Given the description of an element on the screen output the (x, y) to click on. 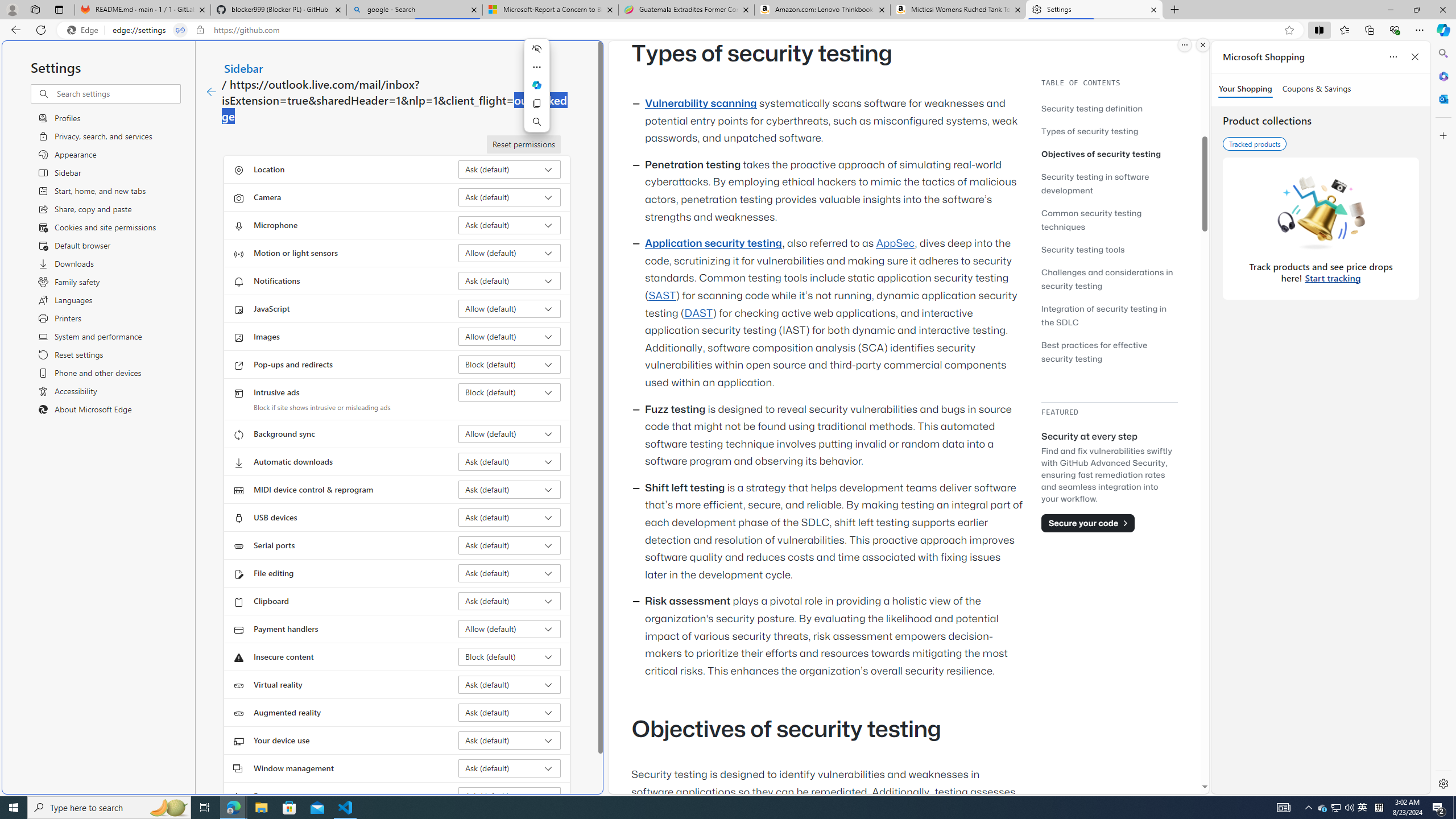
Types of security testing (1109, 130)
Challenges and considerations in security testing (1109, 279)
Notifications Ask (default) (509, 280)
MIDI device control & reprogram Ask (default) (509, 489)
File editing Ask (default) (509, 573)
Microphone Ask (default) (509, 225)
Sidebar (243, 67)
Edge (84, 29)
Payment handlers Allow (default) (509, 628)
